Given the description of an element on the screen output the (x, y) to click on. 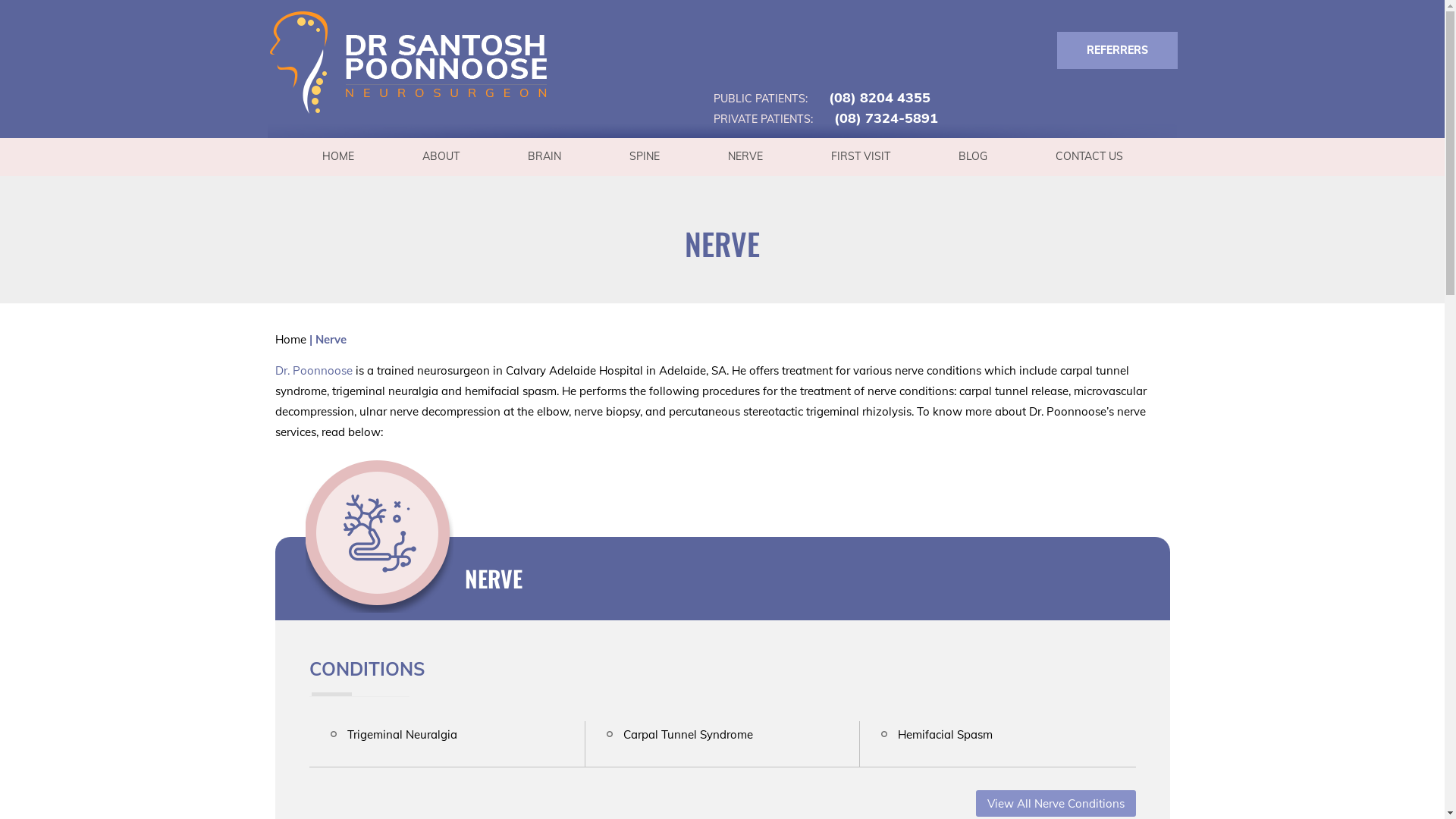
NERVE Element type: text (492, 578)
BRAIN Element type: text (543, 156)
Home Element type: text (289, 339)
FIRST VISIT Element type: text (859, 156)
BLOG Element type: text (971, 156)
Hemifacial Spasm Element type: text (944, 734)
CONDITIONS Element type: text (366, 668)
Dr. Poonnoose Element type: text (312, 370)
View All Nerve Conditions Element type: text (1055, 803)
Carpal Tunnel Syndrome Element type: text (688, 734)
HOME Element type: text (338, 156)
(08) 7324-5891 Element type: text (876, 117)
SPINE Element type: text (643, 156)
REFERRERS Element type: text (1117, 50)
CONTACT US Element type: text (1088, 156)
ABOUT Element type: text (440, 156)
NERVE Element type: text (744, 156)
Trigeminal Neuralgia Element type: text (402, 734)
(08) 8204 4355 Element type: text (869, 96)
